Given the description of an element on the screen output the (x, y) to click on. 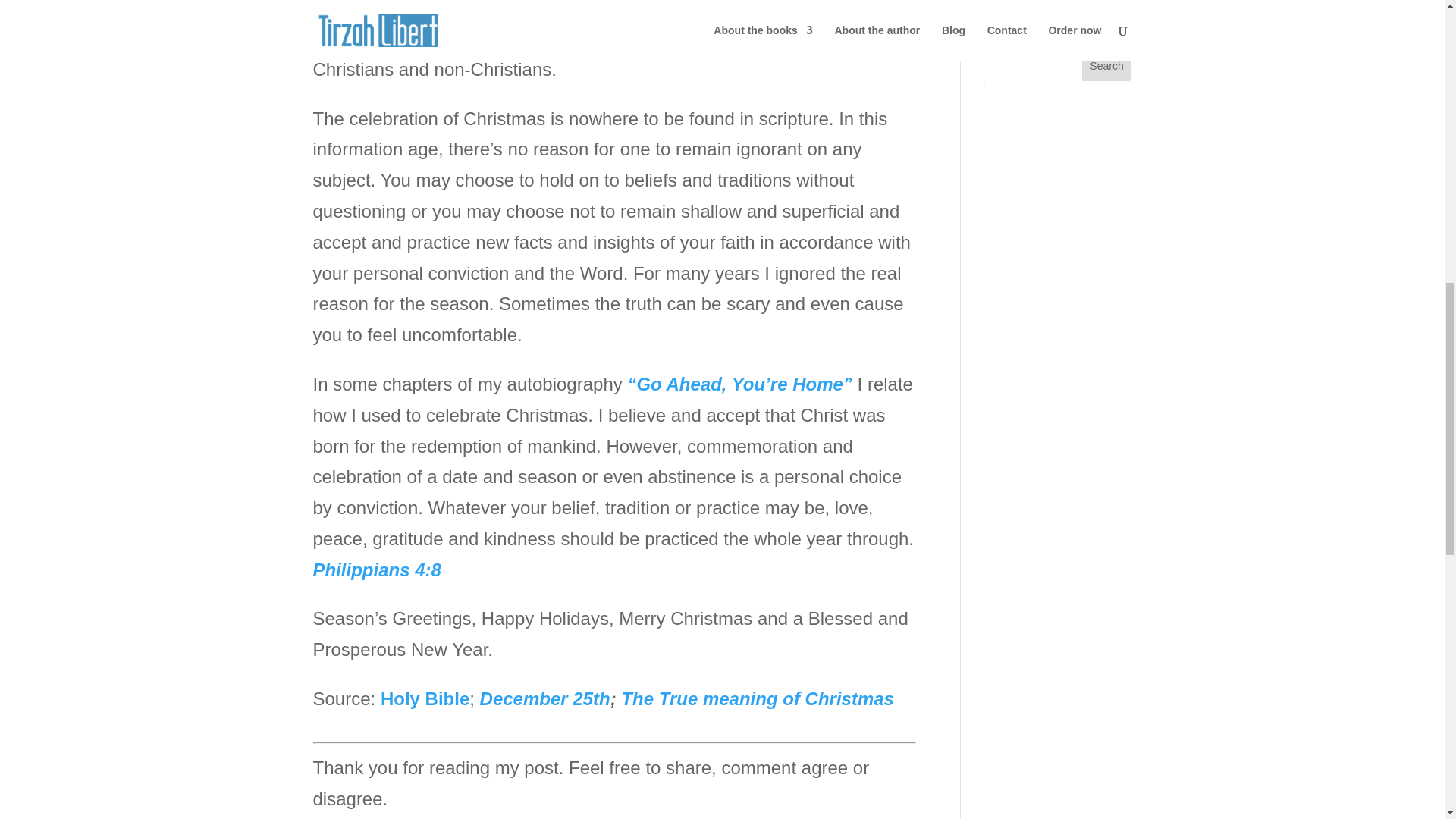
December 25th (545, 698)
Holy Bible (424, 698)
The True meaning of Christmas (757, 698)
December 25th (377, 8)
Philippians 4:8 (377, 569)
Search (1106, 65)
Search (1106, 65)
